Given the description of an element on the screen output the (x, y) to click on. 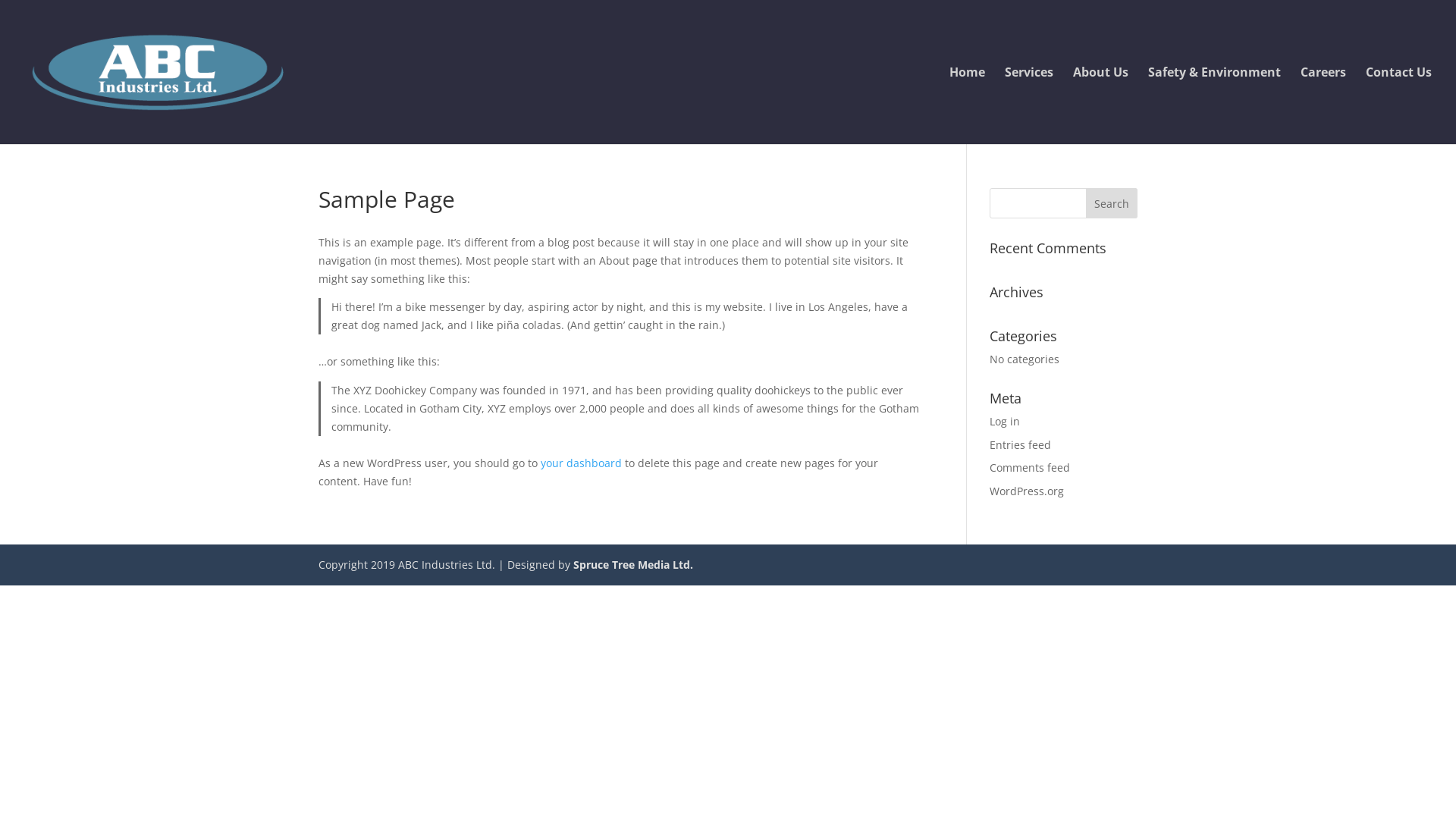
Comments feed Element type: text (1029, 467)
Log in Element type: text (1004, 421)
Contact Us Element type: text (1398, 105)
your dashboard Element type: text (580, 462)
Careers Element type: text (1323, 105)
Spruce Tree Media Ltd. Element type: text (633, 564)
WordPress.org Element type: text (1026, 490)
Entries feed Element type: text (1020, 444)
Search Element type: text (1111, 203)
Safety & Environment Element type: text (1214, 105)
Home Element type: text (967, 105)
About Us Element type: text (1100, 105)
Services Element type: text (1028, 105)
